Given the description of an element on the screen output the (x, y) to click on. 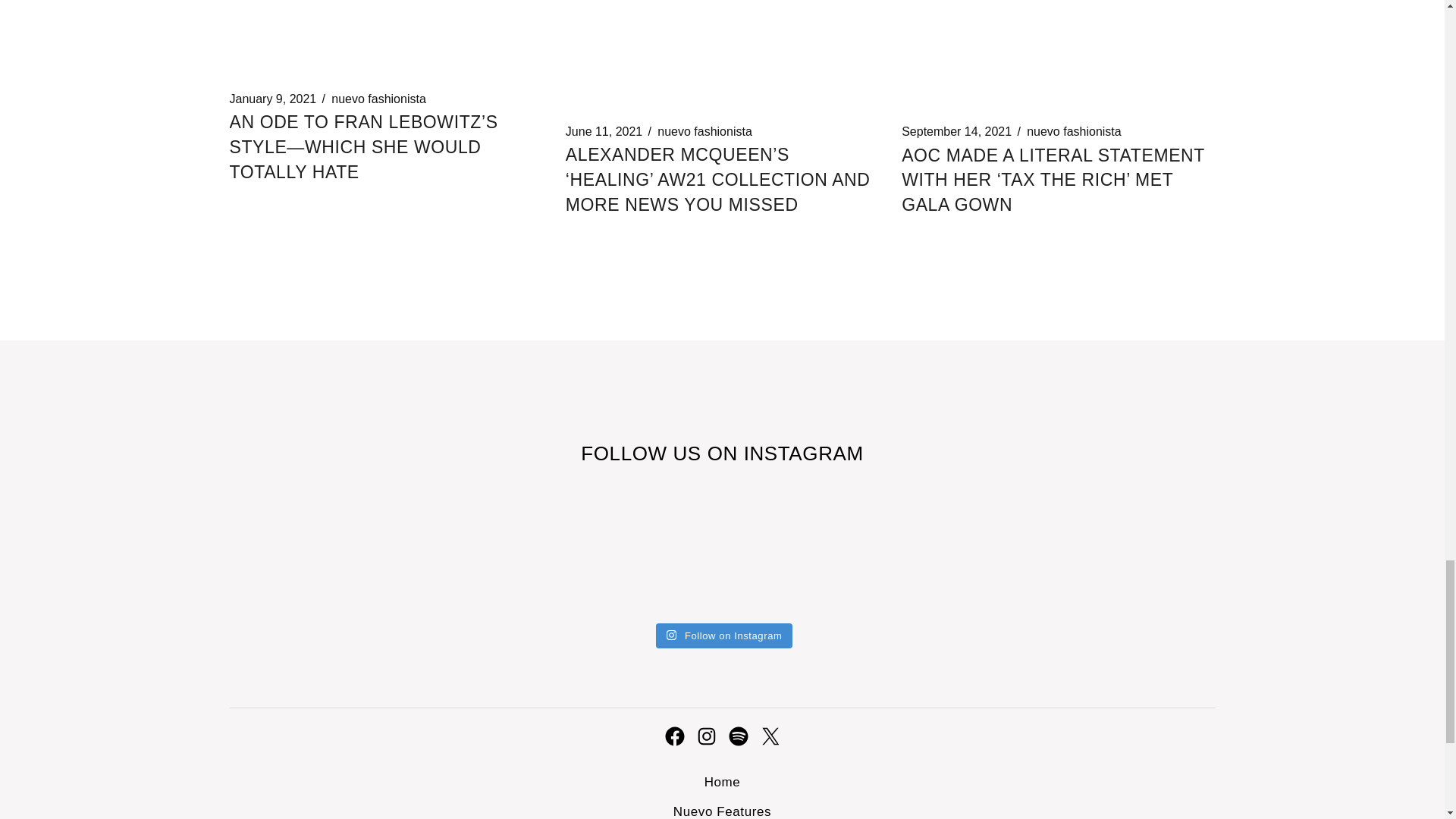
June 11, 2021 (604, 131)
Follow on Instagram (724, 636)
nuevo fashionista (1073, 131)
Home (722, 781)
Facebook (673, 735)
Instagram (705, 735)
nuevo fashionista (378, 99)
X (769, 735)
Spotify (737, 735)
September 14, 2021 (956, 131)
